Given the description of an element on the screen output the (x, y) to click on. 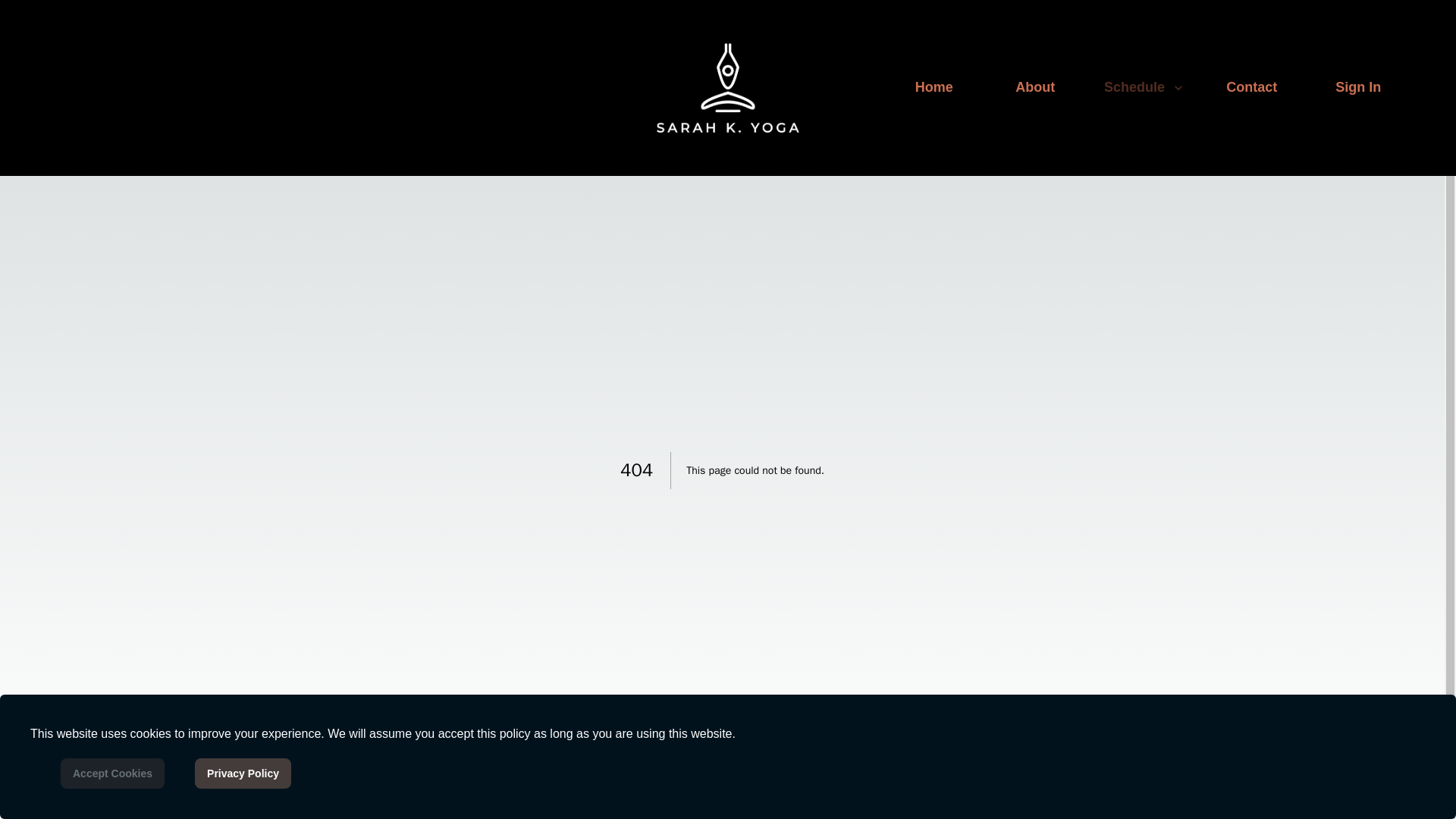
About (1034, 87)
Schedule (1144, 87)
Home (933, 87)
Privacy Policy (243, 773)
Sign In (1357, 87)
Accept Cookies (112, 773)
Contact (1252, 87)
